Given the description of an element on the screen output the (x, y) to click on. 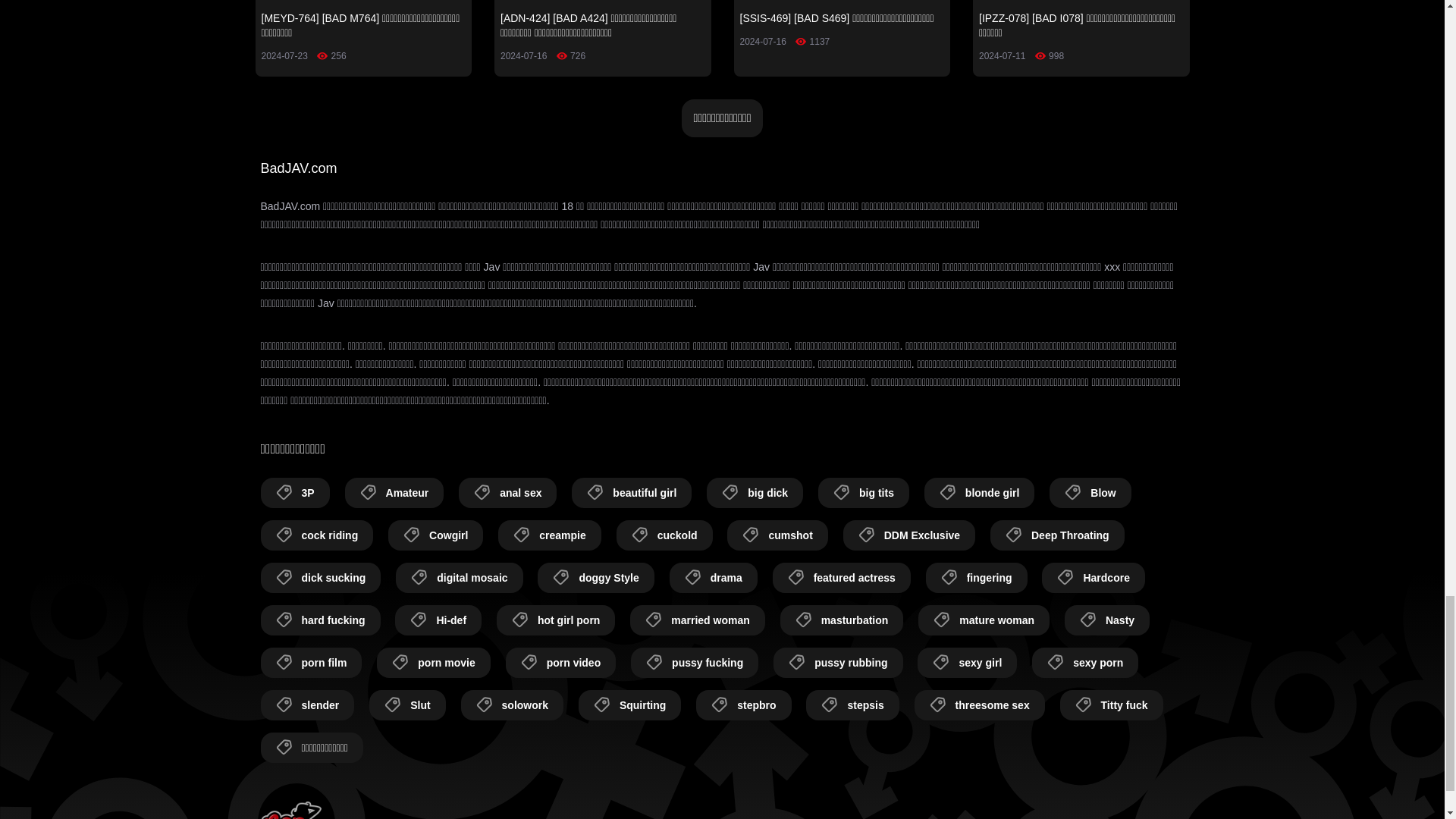
cock riding (317, 535)
Badjav.com (290, 809)
blonde girl (979, 492)
big dick (754, 492)
Amateur (394, 492)
Blow (1090, 492)
big tits (863, 492)
beautiful girl (631, 492)
3P (295, 492)
anal sex (507, 492)
